Given the description of an element on the screen output the (x, y) to click on. 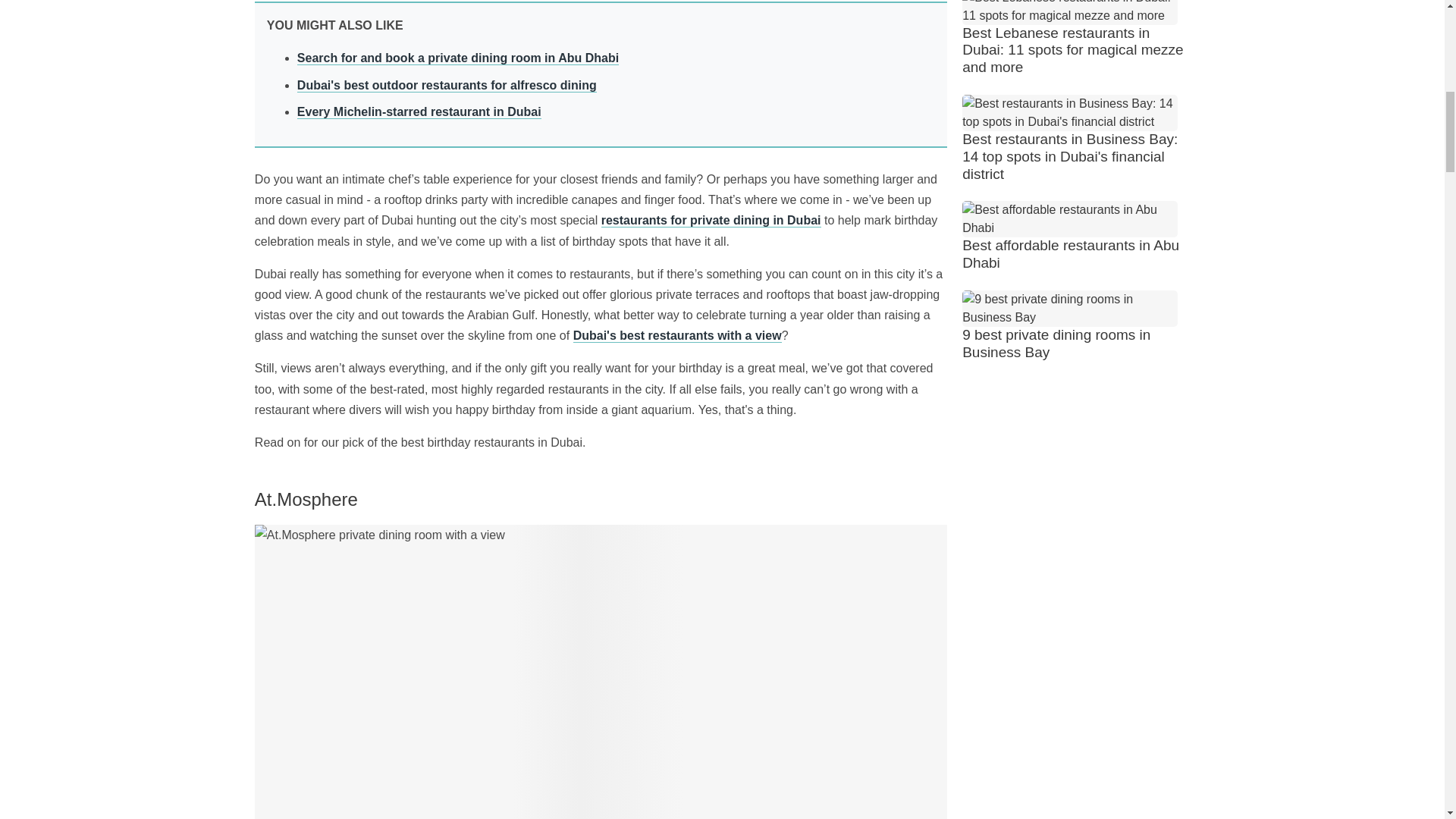
restaurants for private dining in Dubai (711, 219)
Search for and book a private dining room in Abu Dhabi (457, 57)
Every Michelin-starred restaurant in Dubai (419, 111)
Dubai's best outdoor restaurants for alfresco dining (446, 84)
Dubai's best restaurants with a view (677, 335)
